Given the description of an element on the screen output the (x, y) to click on. 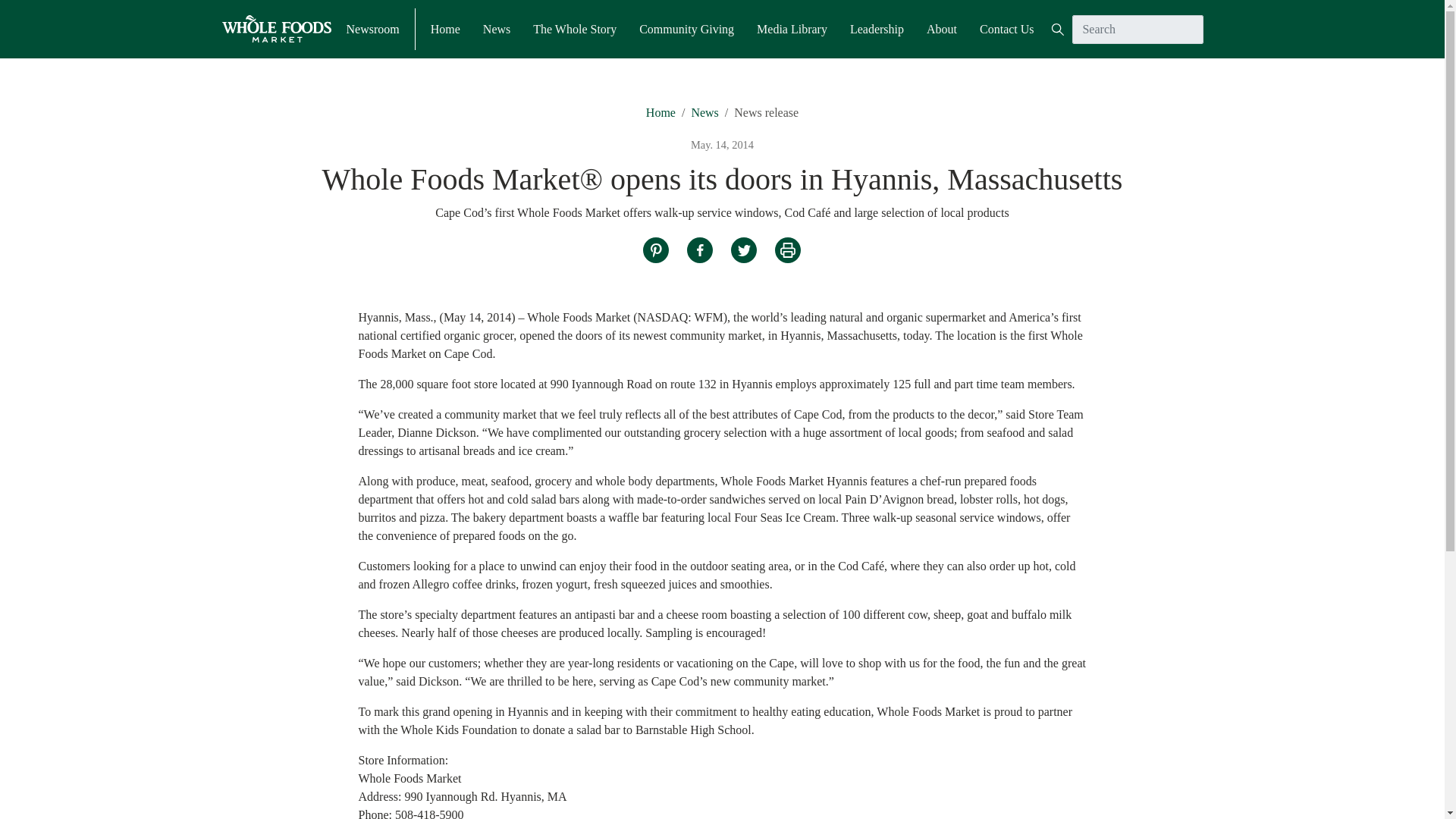
Media Library (792, 28)
Contact Us (1006, 28)
Whole Foods Market (275, 29)
Leadership (877, 28)
News (703, 112)
News (497, 28)
Community Giving (686, 28)
Home (445, 28)
The Whole Story (573, 28)
Home (660, 112)
